Given the description of an element on the screen output the (x, y) to click on. 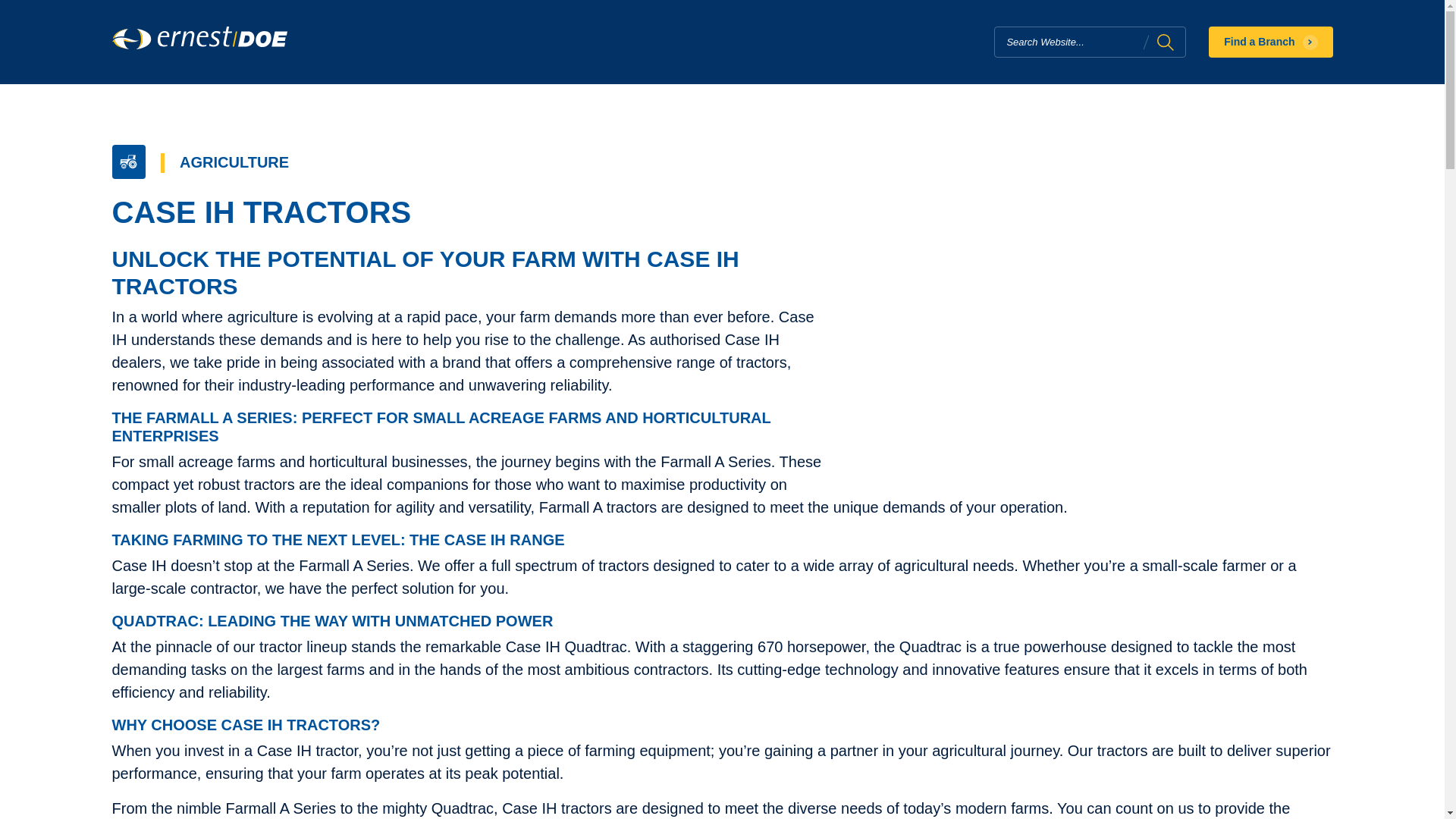
Find a Branch (1270, 41)
Search Website... (1165, 42)
Find a Branch (1270, 41)
